Given the description of an element on the screen output the (x, y) to click on. 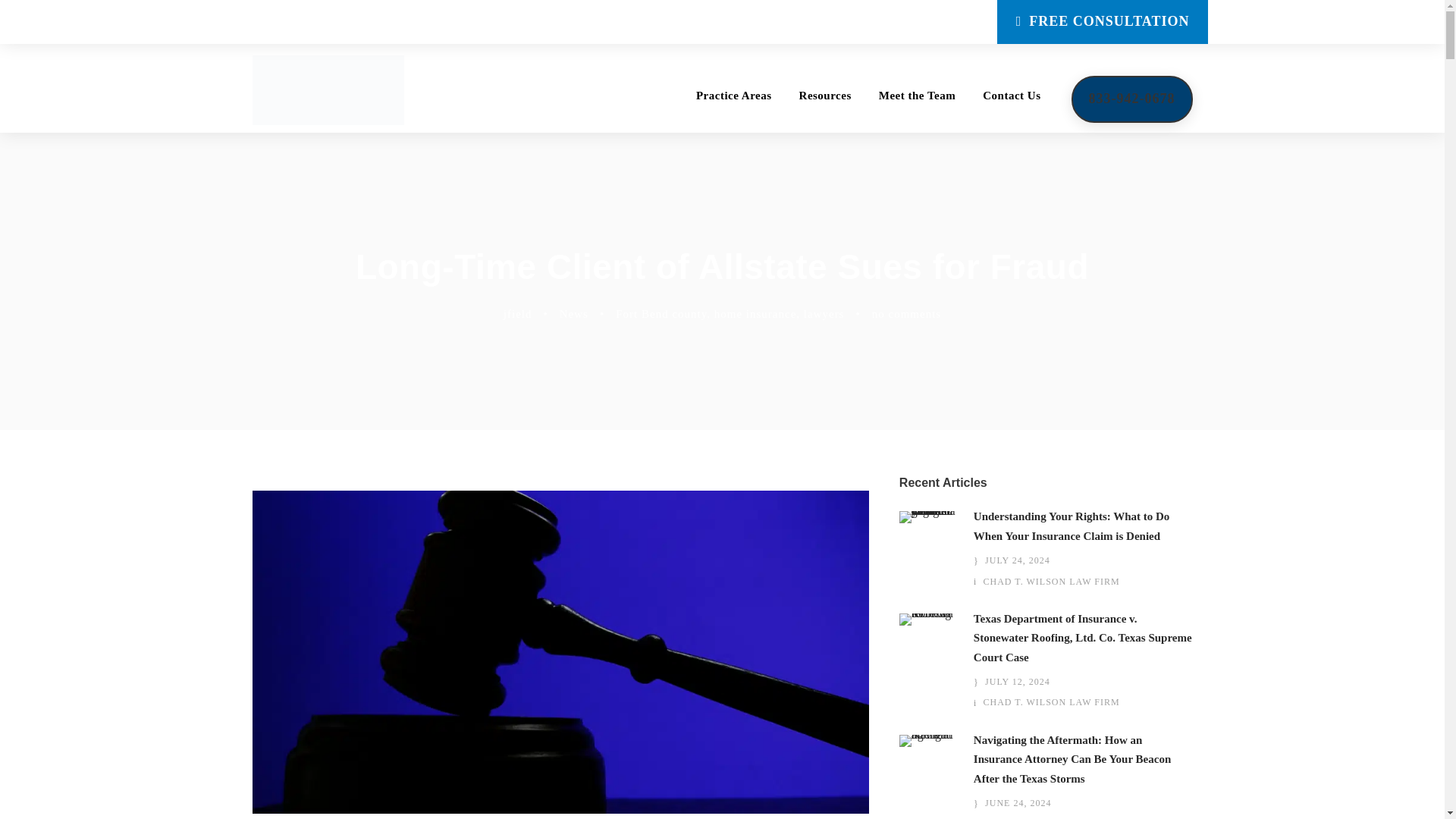
Meet the Team (917, 109)
Posts by jfield (517, 313)
Practice Areas (733, 109)
CTWLF-Logo-FINAL-01 (327, 90)
Posts by Chad T. Wilson Law Firm (1050, 581)
FREE CONSULTATION (1102, 22)
Resources (825, 109)
Understanding Your Rights Blog post Thumbnail (927, 515)
StonewaterBlogThumbnail (927, 617)
